Given the description of an element on the screen output the (x, y) to click on. 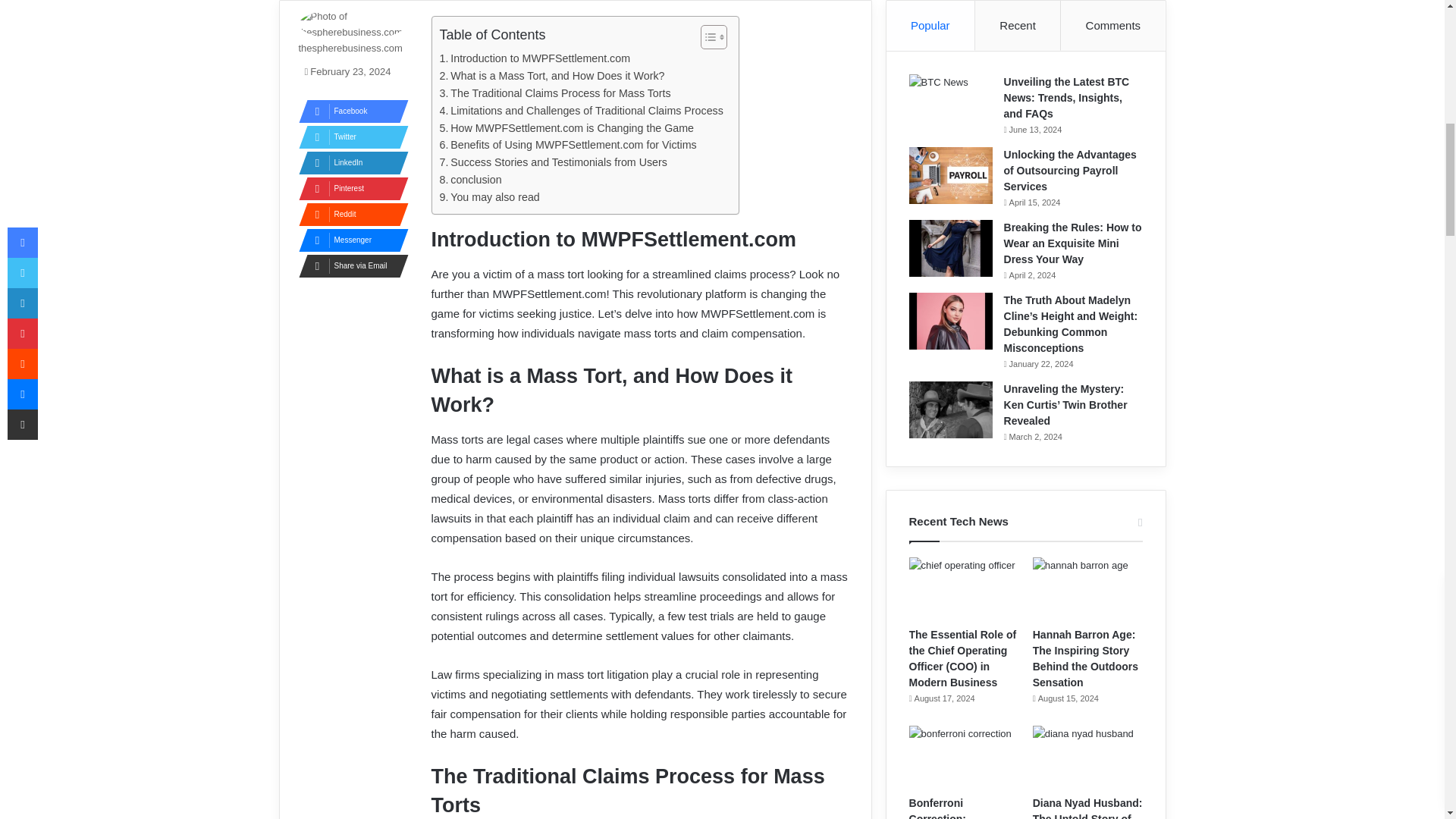
conclusion (470, 180)
Facebook (348, 110)
Benefits of Using MWPFSettlement.com for Victims (568, 144)
You may also read (489, 197)
You may also read (489, 197)
The Traditional Claims Process for Mass Torts (555, 93)
Introduction to MWPFSettlement.com (534, 58)
Limitations and Challenges of Traditional Claims Process (581, 110)
Benefits of Using MWPFSettlement.com for Victims (568, 144)
thespherebusiness.com (350, 48)
